Given the description of an element on the screen output the (x, y) to click on. 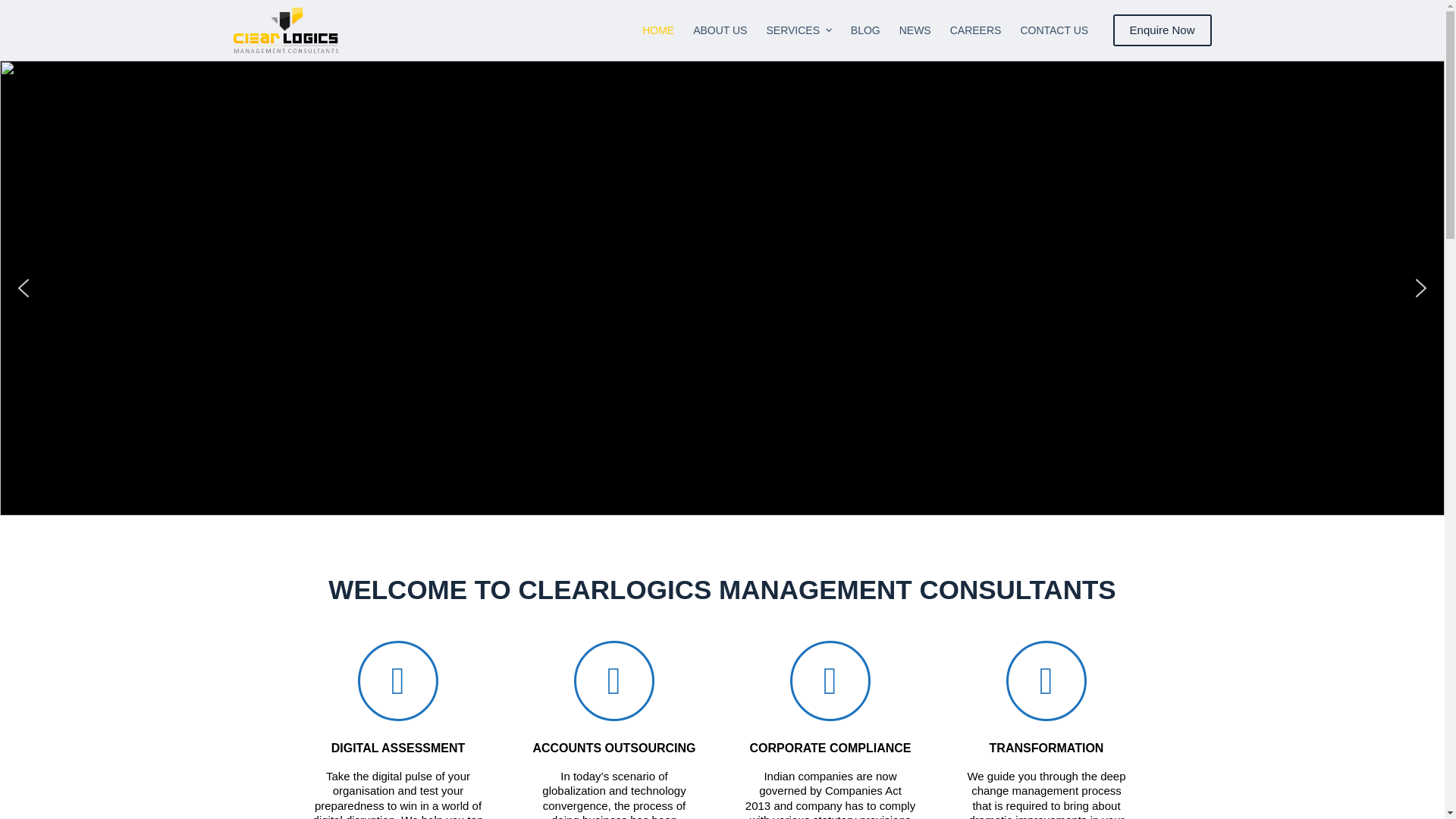
Skip to content (15, 7)
